Given the description of an element on the screen output the (x, y) to click on. 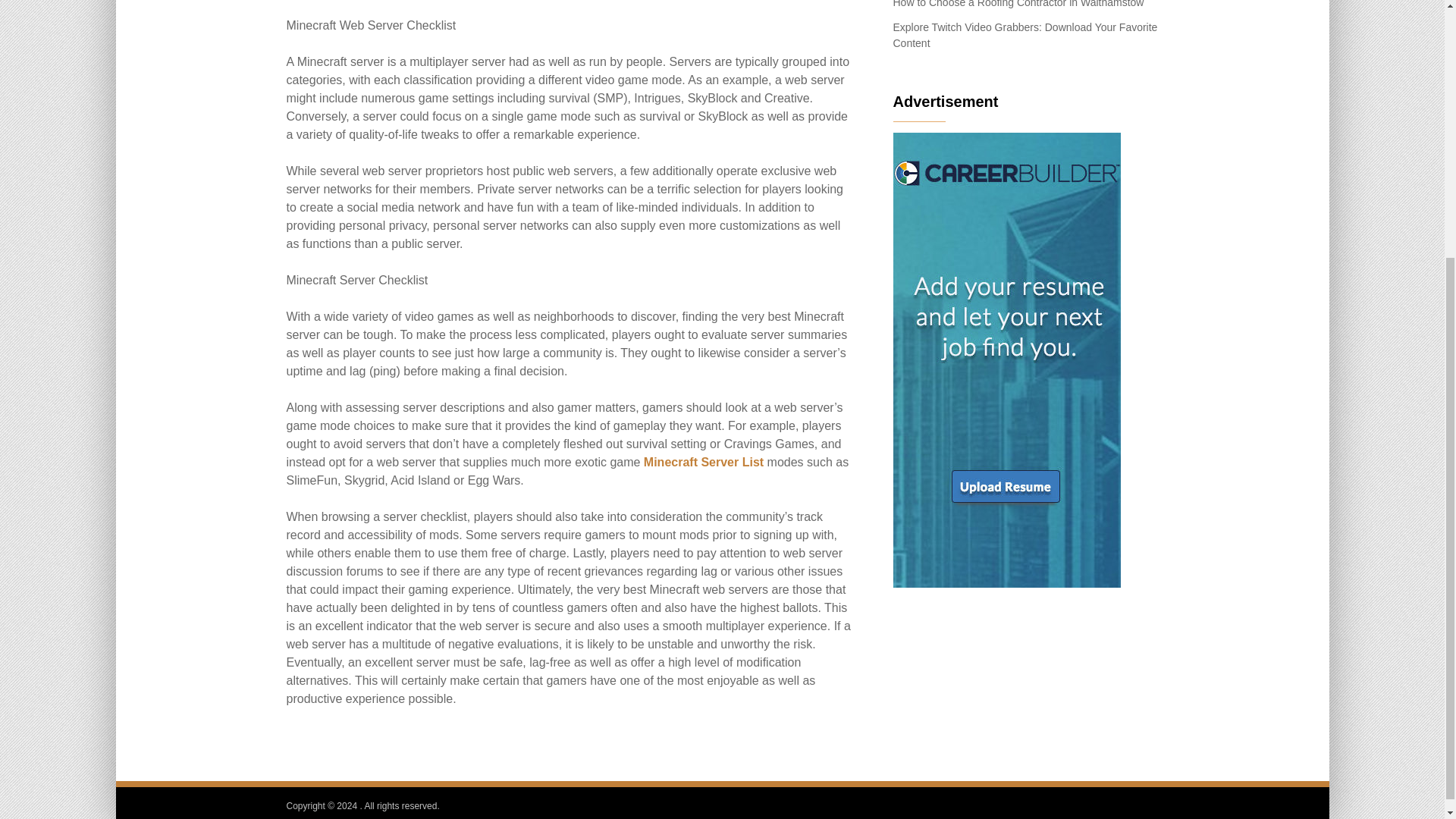
Minecraft Server List (702, 461)
How to Choose a Roofing Contractor in Walthamstow (1018, 4)
